Given the description of an element on the screen output the (x, y) to click on. 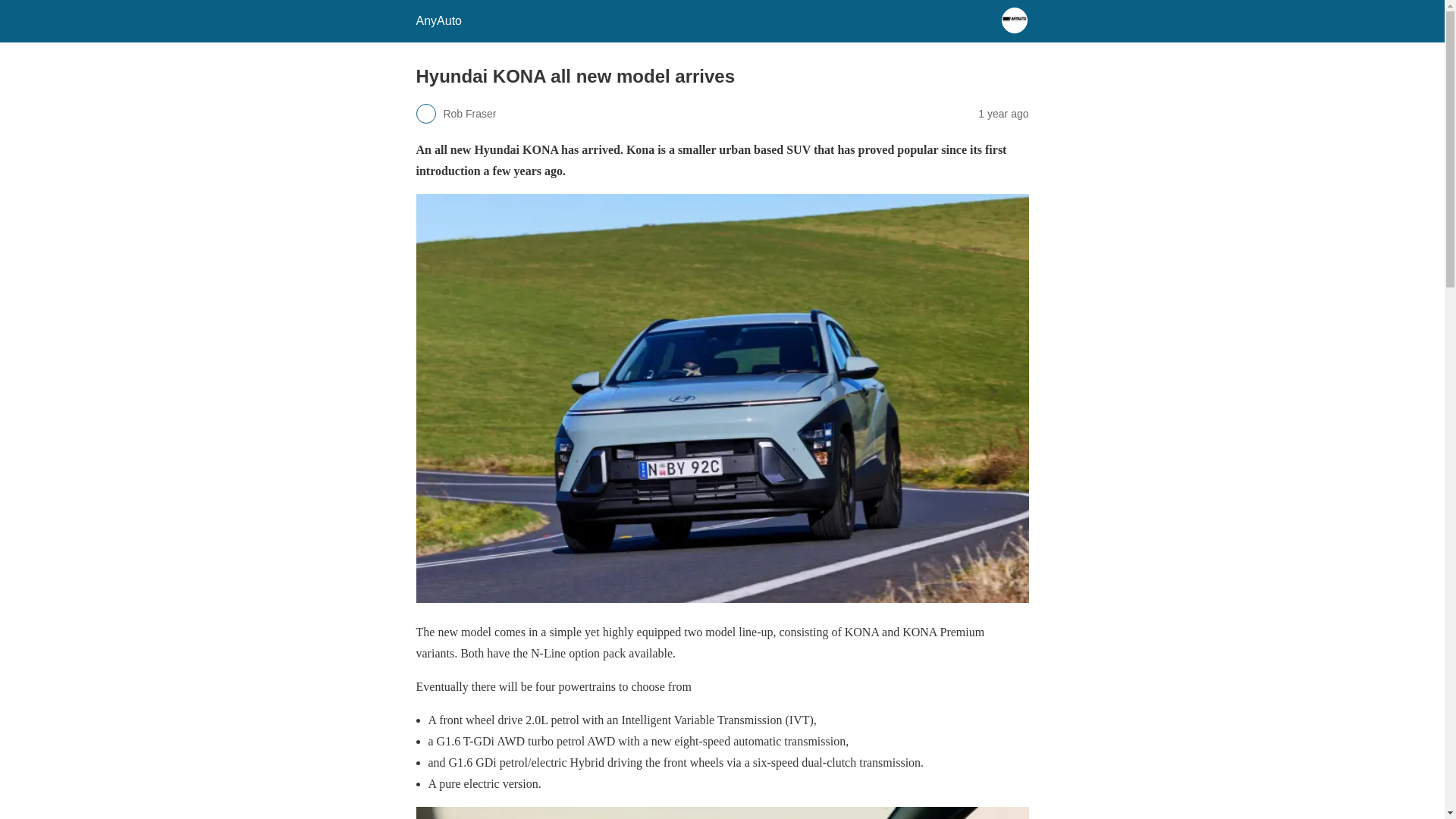
AnyAuto (437, 20)
